Given the description of an element on the screen output the (x, y) to click on. 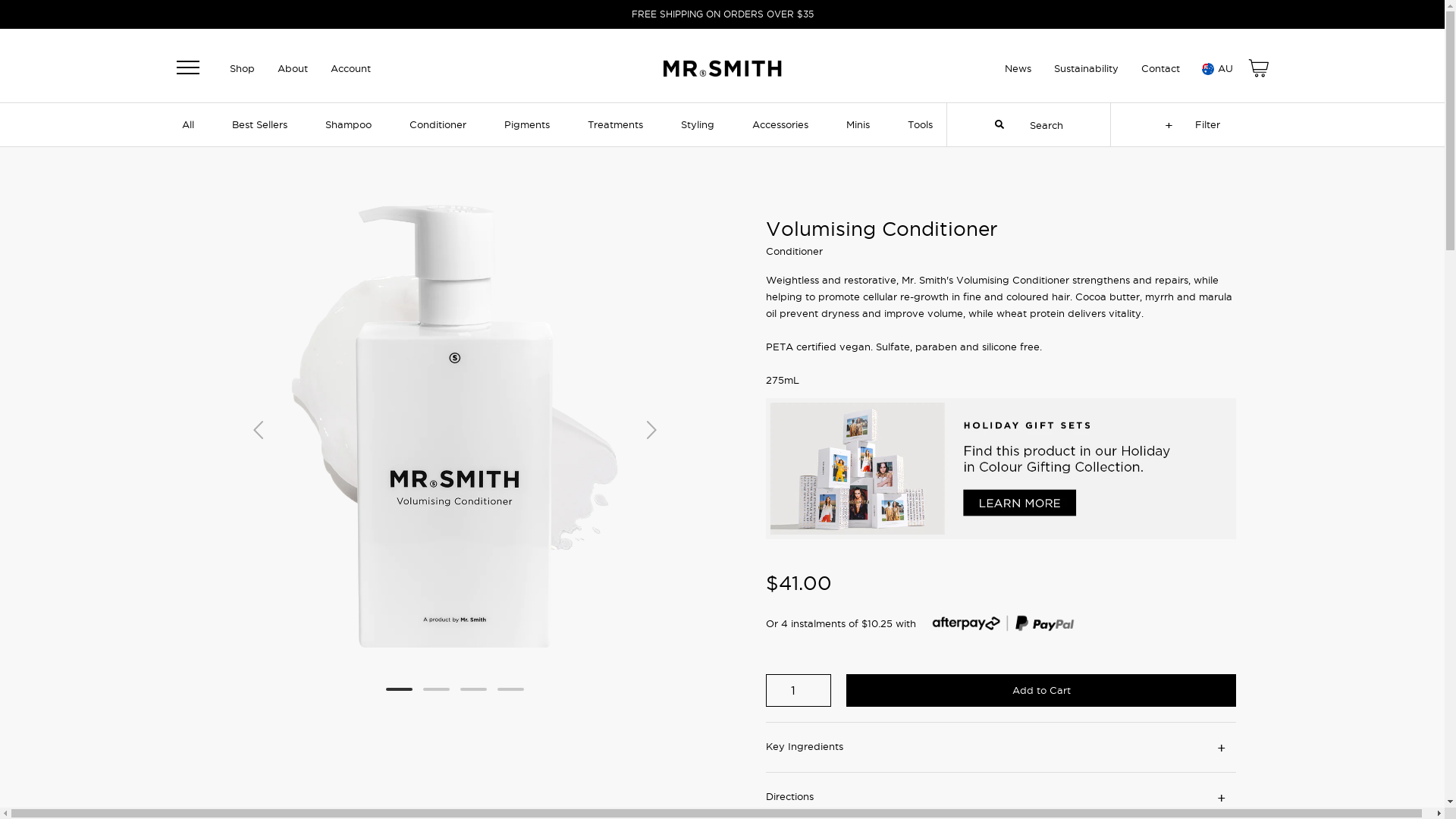
All Element type: text (188, 124)
1 Element type: text (398, 688)
Next Element type: text (651, 428)
Add to Cart Element type: text (1041, 690)
4 Element type: text (510, 688)
Contact Element type: text (1159, 68)
News Element type: text (1017, 68)
Minis Element type: text (857, 124)
Treatments Element type: text (615, 124)
Shampoo Element type: text (348, 124)
Tools Element type: text (919, 124)
Pigments Element type: text (526, 124)
3 Element type: text (473, 688)
Accessories Element type: text (780, 124)
Previous Element type: text (257, 428)
Styling Element type: text (697, 124)
Best Sellers Element type: text (259, 124)
Shop Element type: text (241, 68)
Conditioner Element type: text (437, 124)
Sustainability Element type: text (1086, 68)
About Element type: text (292, 68)
Enhance Gift Set Element type: hover (1000, 535)
2 Element type: text (436, 688)
AU Element type: text (1215, 68)
Account Element type: text (350, 68)
